Given the description of an element on the screen output the (x, y) to click on. 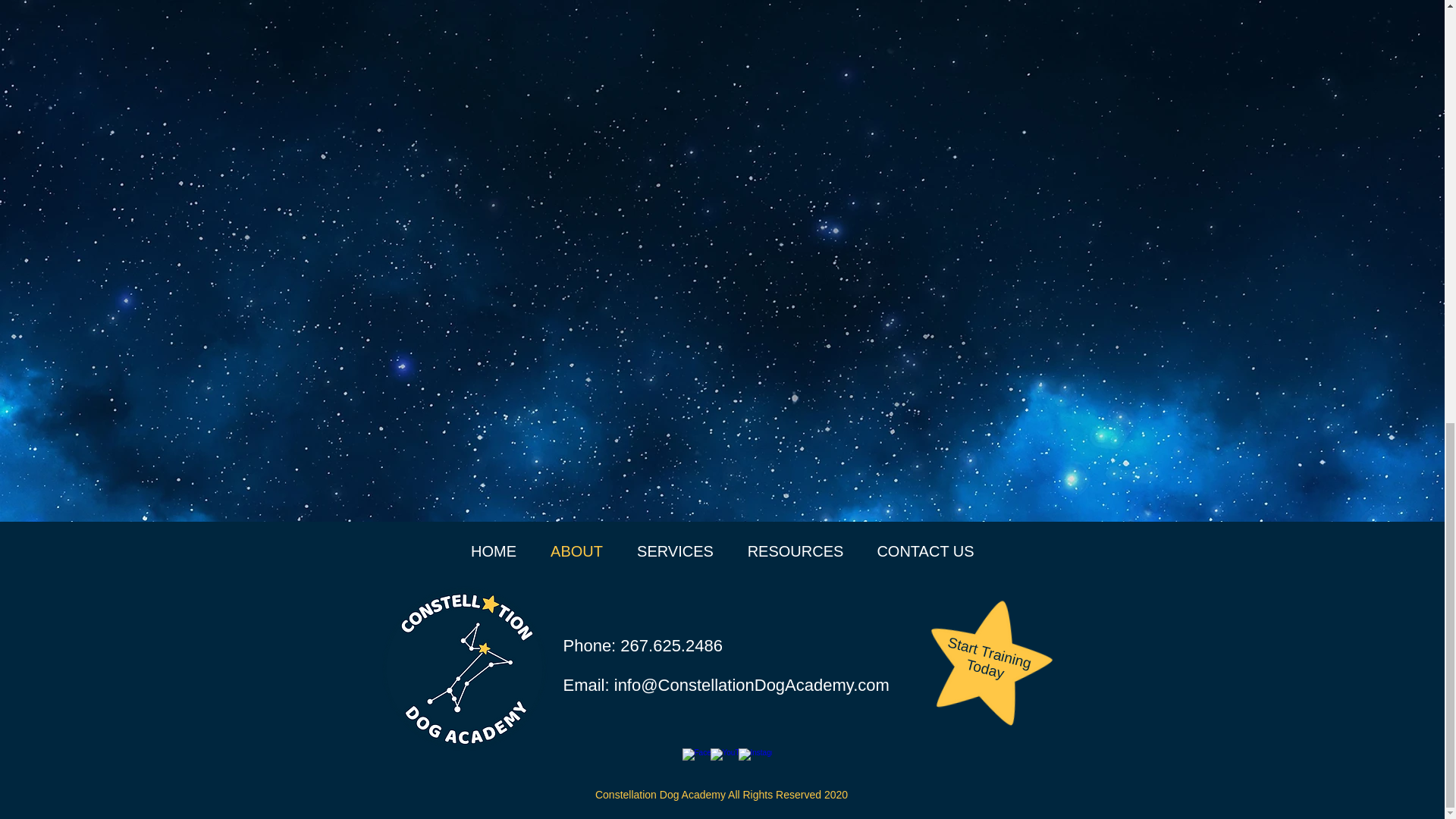
ABOUT (577, 551)
RESOURCES (795, 551)
Start Training (987, 641)
CONTACT US (925, 551)
SERVICES (675, 551)
HOME (492, 551)
